Given the description of an element on the screen output the (x, y) to click on. 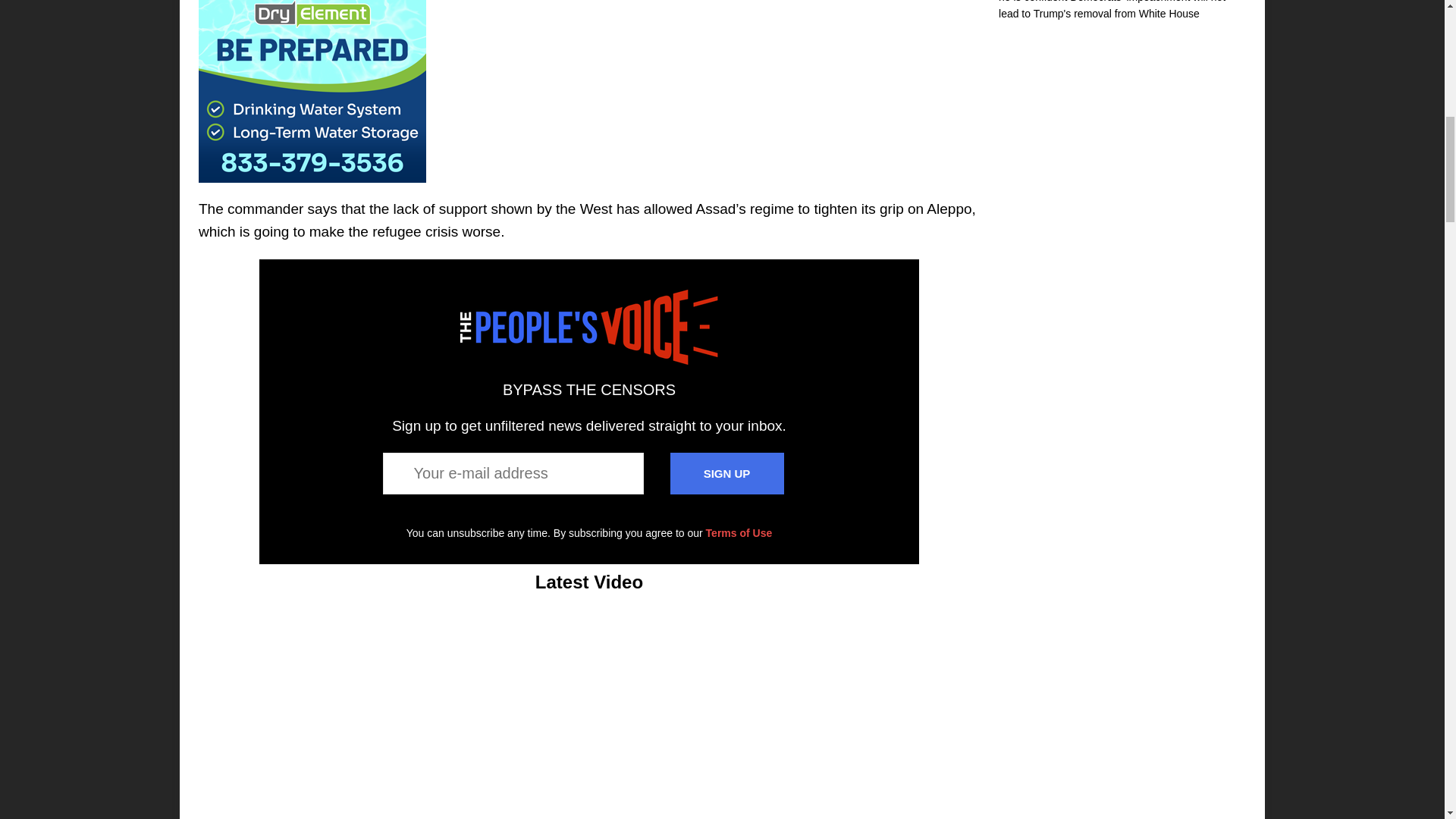
SIGN UP (726, 473)
